Given the description of an element on the screen output the (x, y) to click on. 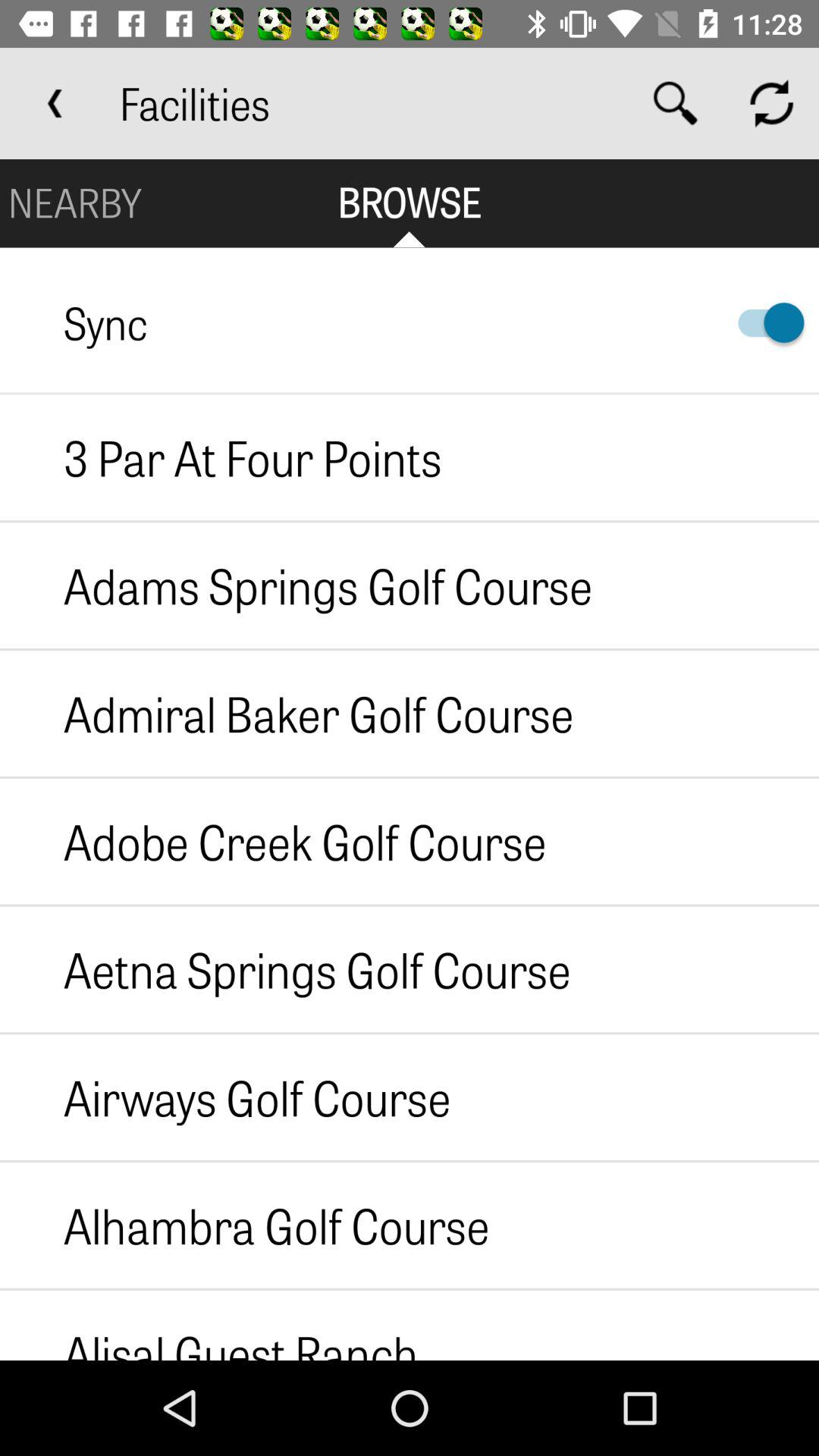
scroll to alisal guest ranch (209, 1325)
